Given the description of an element on the screen output the (x, y) to click on. 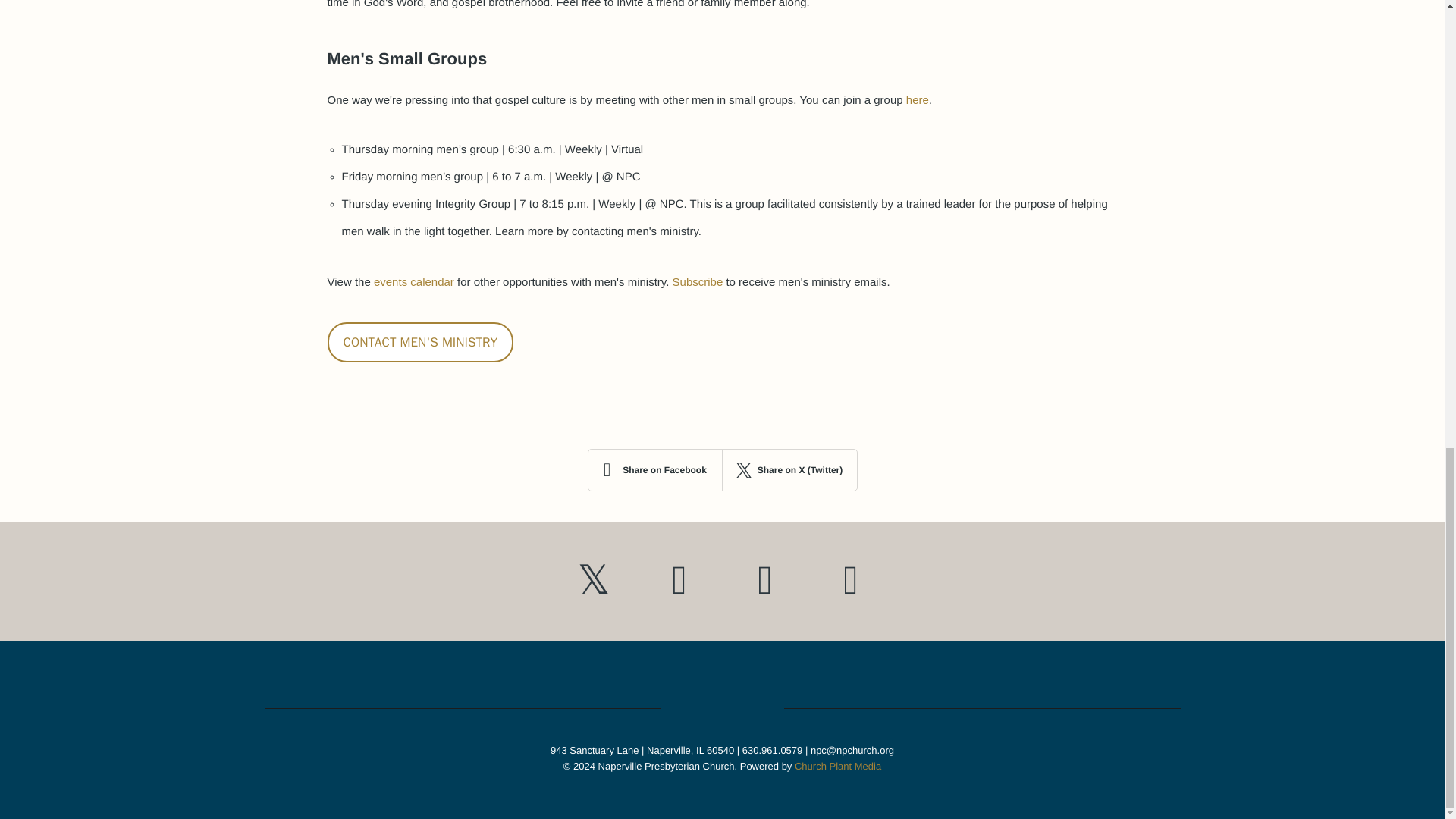
youtube (679, 581)
facebook (850, 581)
twitter (592, 581)
instagram (764, 581)
